Given the description of an element on the screen output the (x, y) to click on. 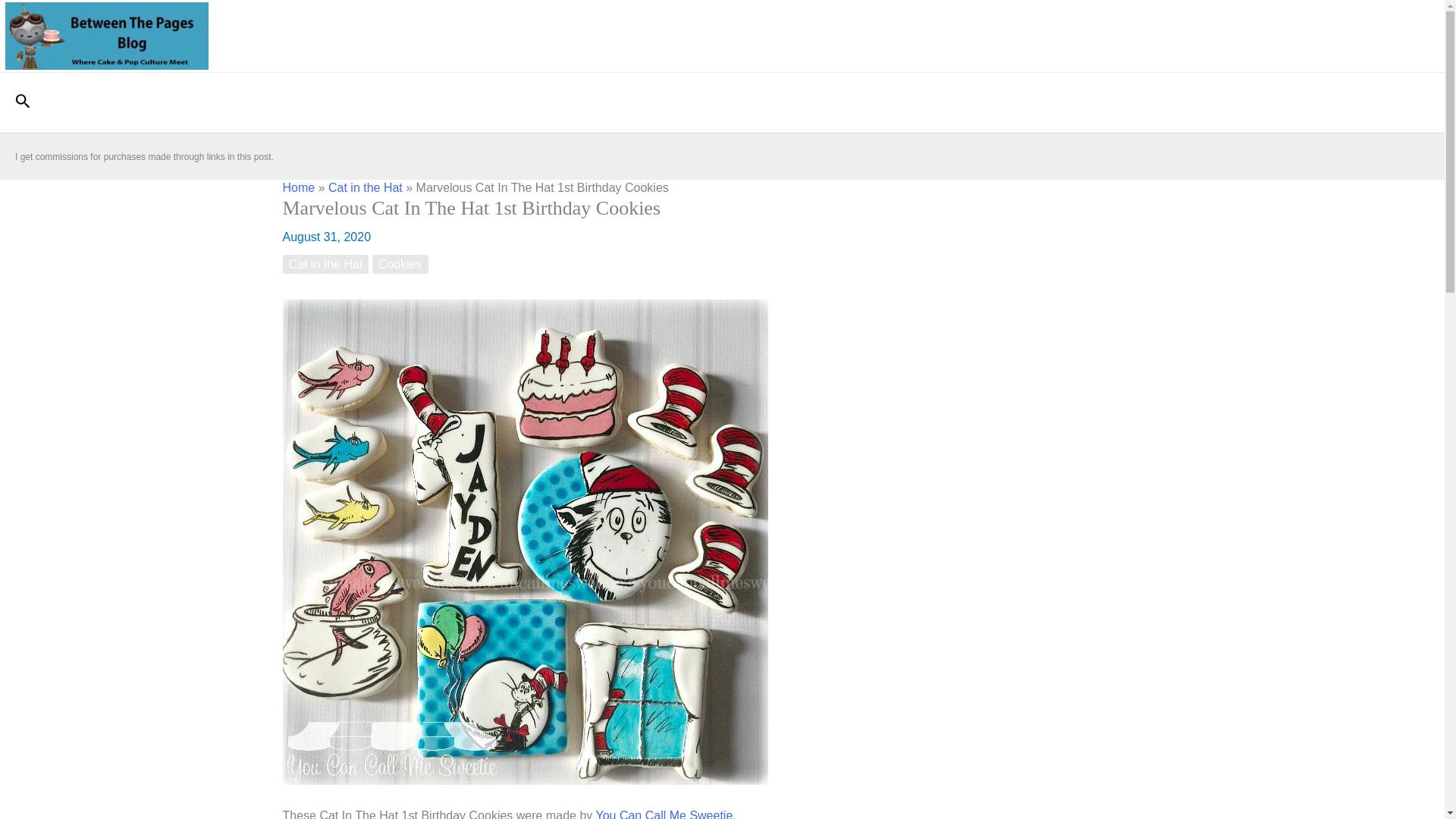
Cat in the Hat (325, 263)
You Can Call Me Sweetie (663, 814)
Cookies (400, 263)
Home (298, 187)
Cat in the Hat (366, 187)
